Given the description of an element on the screen output the (x, y) to click on. 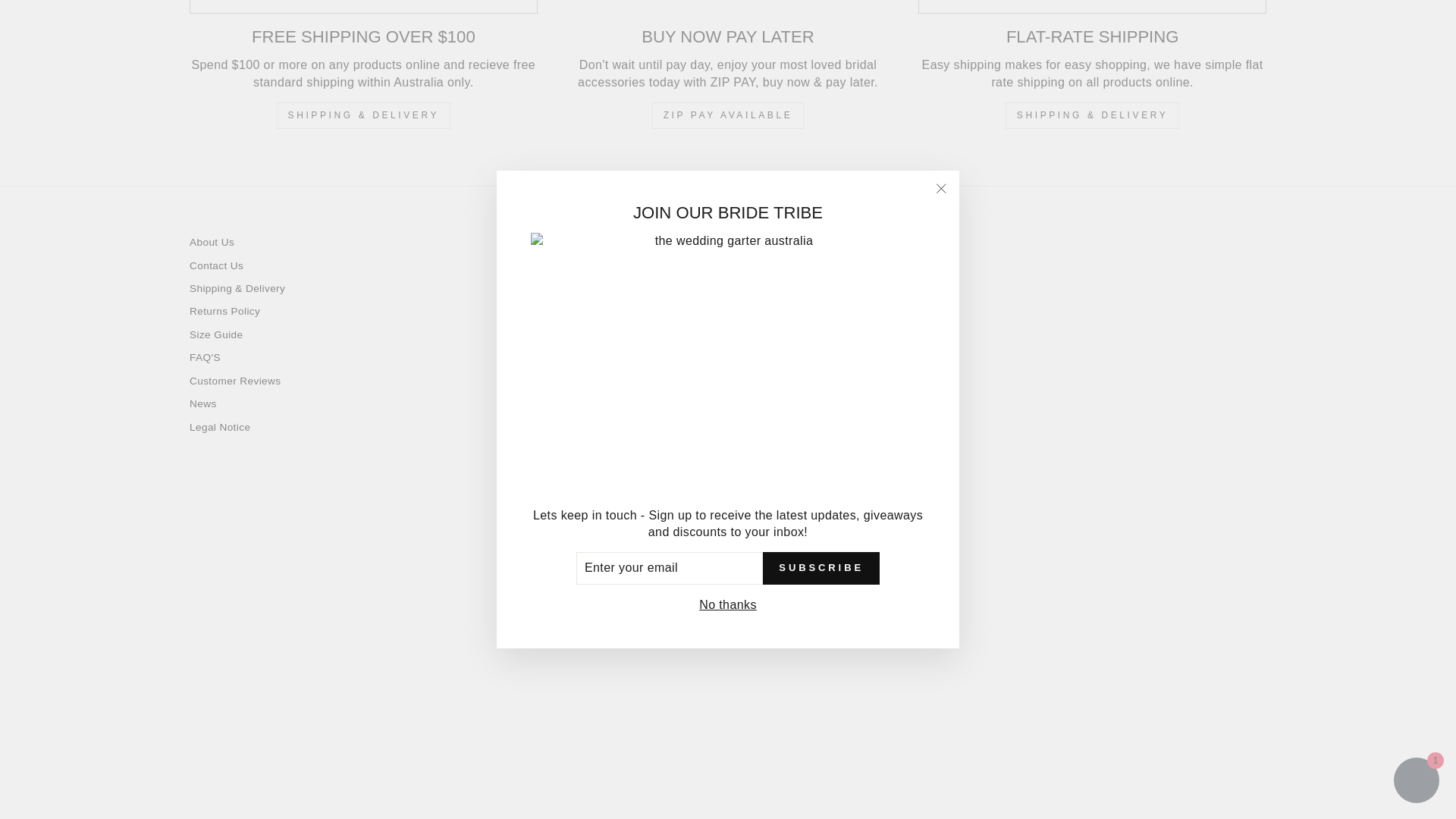
Union Pay (814, 705)
Visa (849, 705)
American Express (605, 705)
PayPal (745, 705)
Google Pay (675, 705)
Mastercard (710, 705)
Shop Pay (779, 705)
Apple Pay (640, 705)
